Given the description of an element on the screen output the (x, y) to click on. 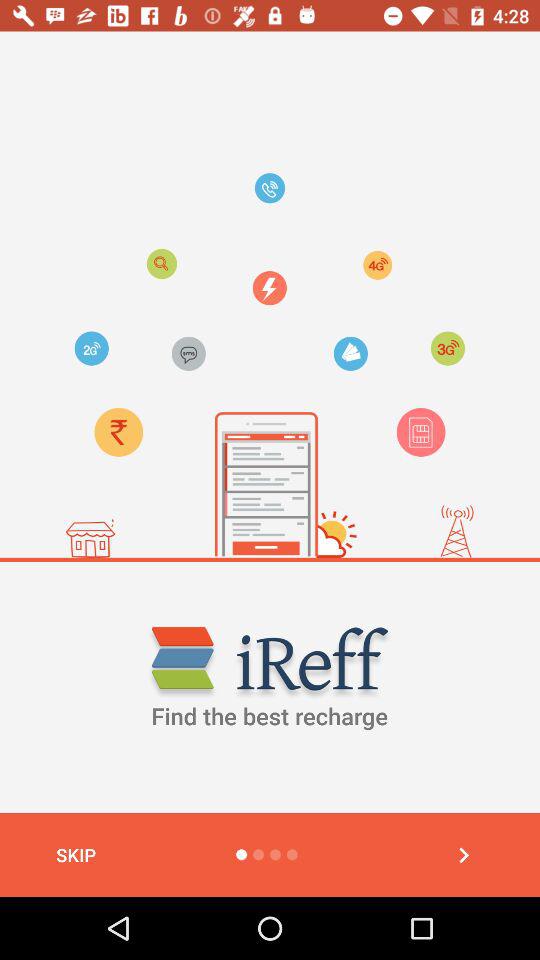
skip this introcuction frame (463, 855)
